Given the description of an element on the screen output the (x, y) to click on. 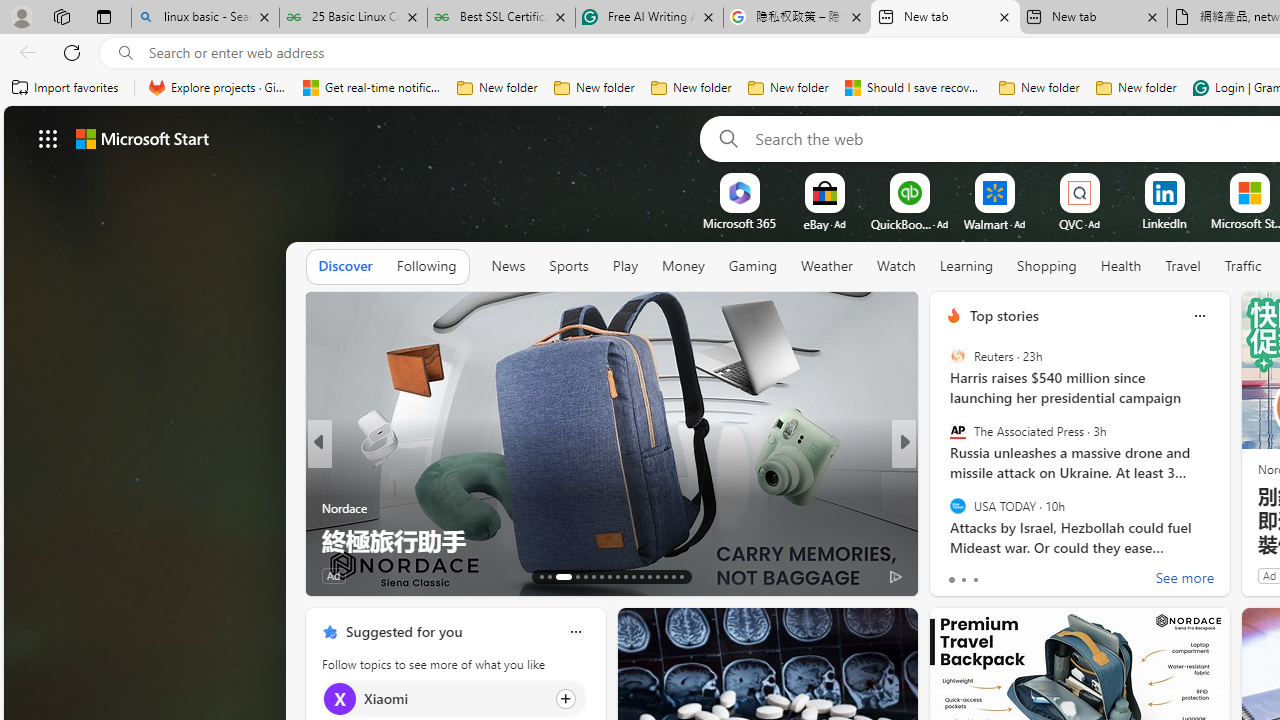
XDA Developers (944, 507)
AutomationID: tab-15 (559, 576)
AutomationID: tab-14 (549, 576)
View comments 67 Comment (1051, 574)
71 Like (956, 574)
Worthly (944, 475)
Top stories (1003, 315)
AutomationID: tab-18 (592, 576)
AutomationID: tab-20 (609, 576)
